Given the description of an element on the screen output the (x, y) to click on. 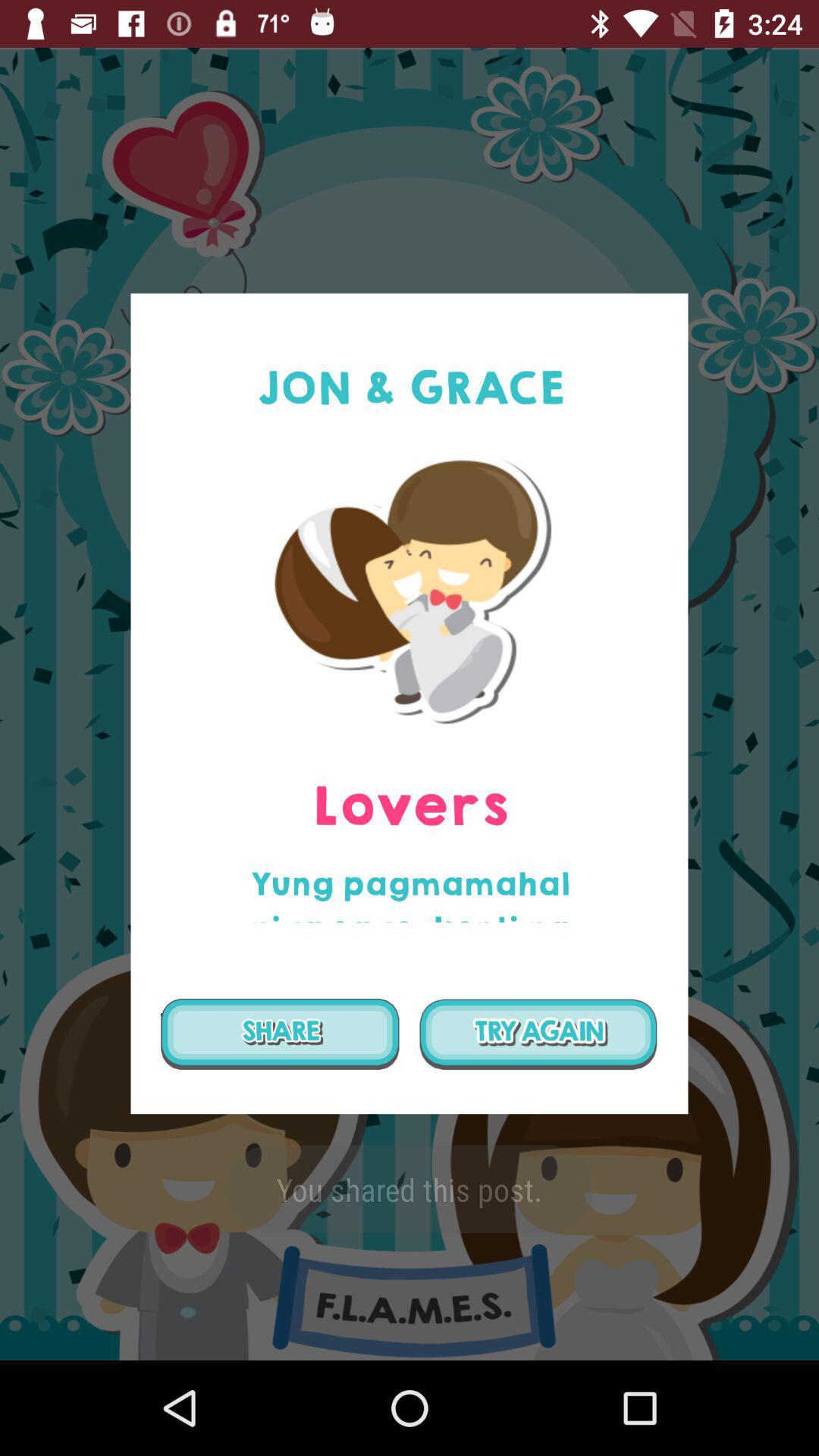
share (279, 1034)
